Given the description of an element on the screen output the (x, y) to click on. 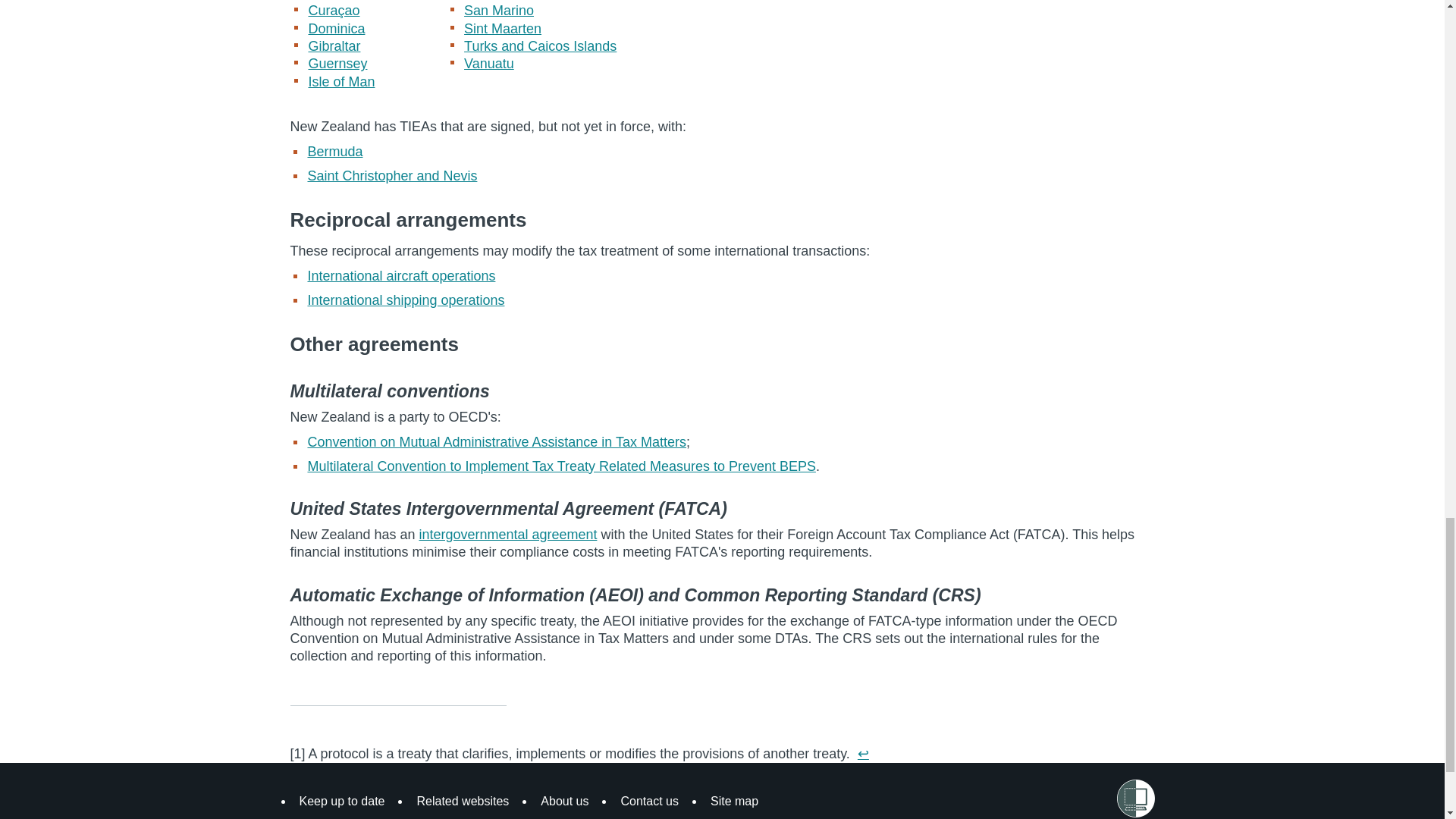
Site map (734, 800)
Related websites (462, 800)
Keep up to date (341, 800)
About us (564, 800)
Contact us (649, 800)
